Given the description of an element on the screen output the (x, y) to click on. 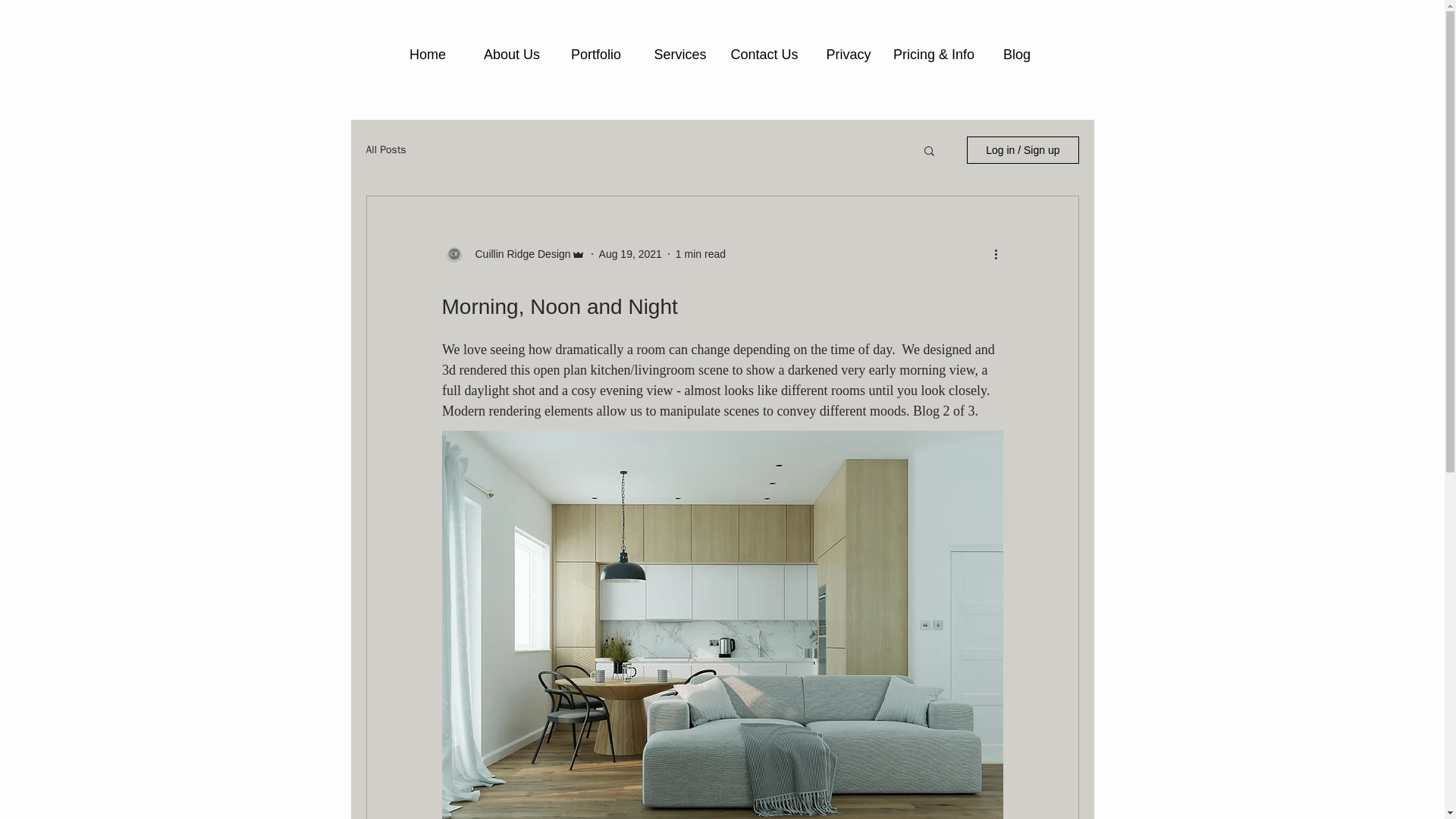
Services (680, 55)
Cuillin Ridge Design (517, 253)
1 min read (700, 253)
Blog (1017, 55)
Home (426, 55)
Privacy (848, 55)
All Posts (385, 150)
Aug 19, 2021 (630, 253)
About Us (512, 55)
Contact Us (764, 55)
Portfolio (595, 55)
